Given the description of an element on the screen output the (x, y) to click on. 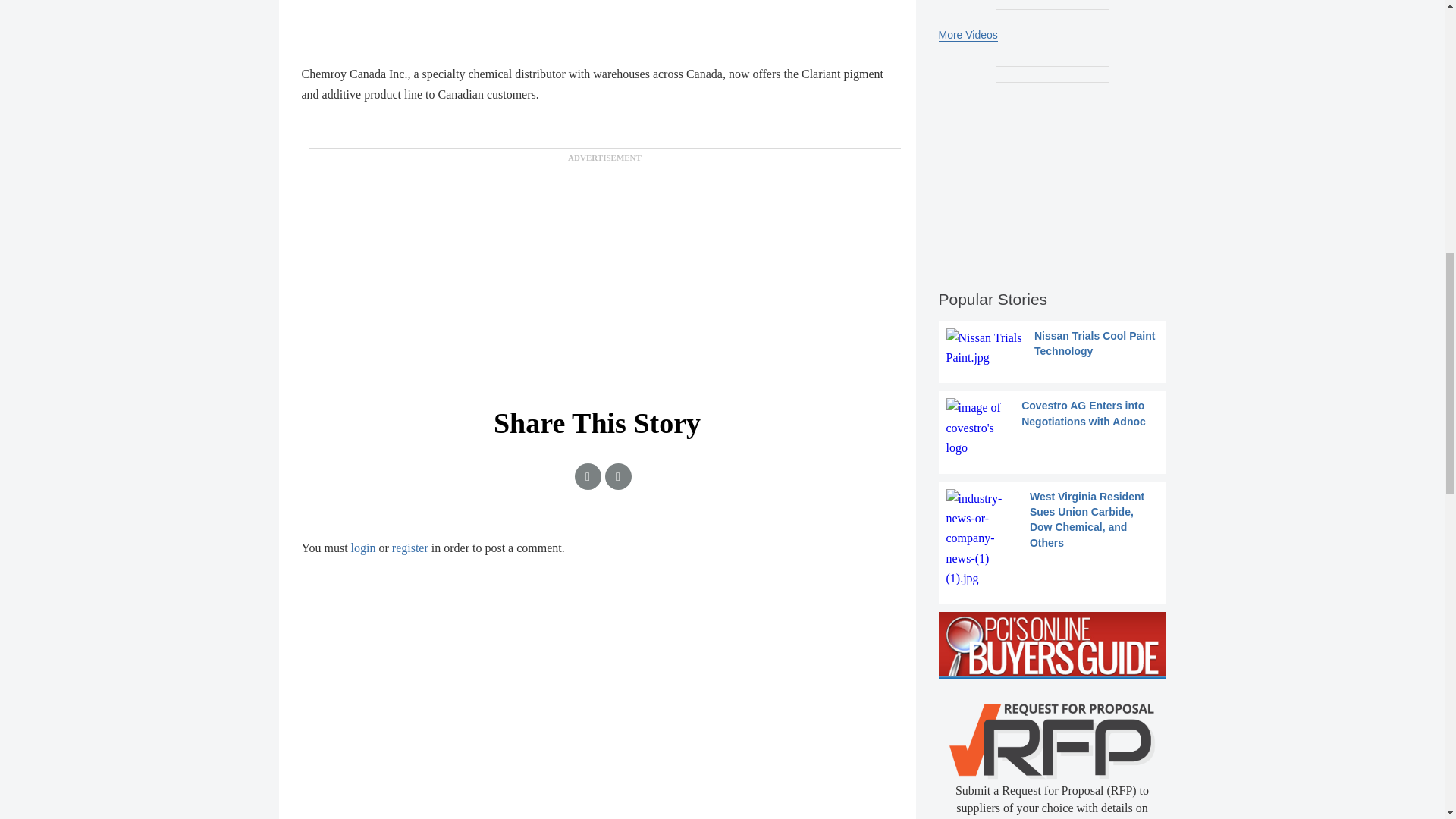
Nissan Trials Cool Paint Technology (1052, 348)
Covestro AG Enters into Negotiations with Adnoc (1052, 427)
